Given the description of an element on the screen output the (x, y) to click on. 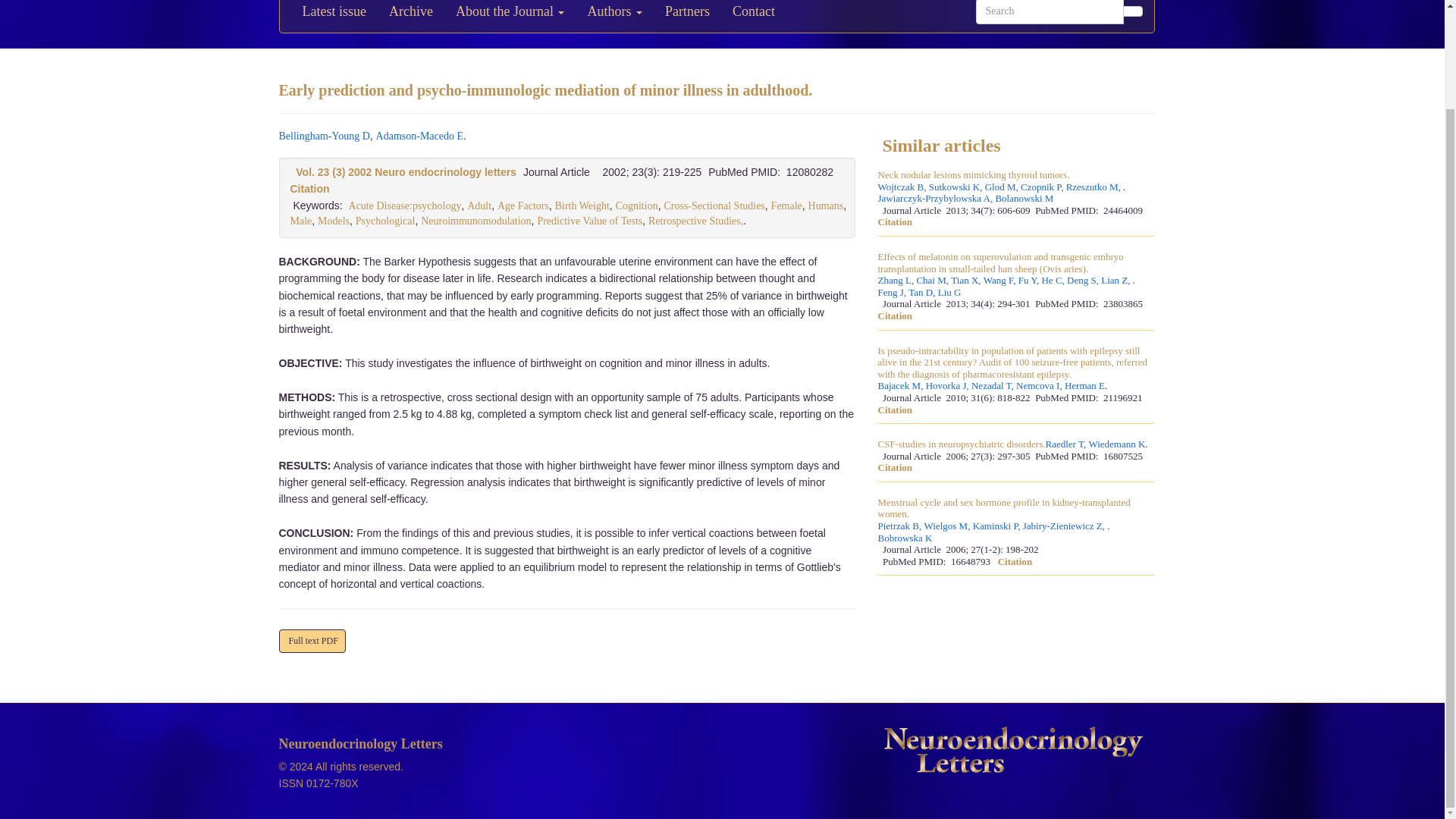
Adult (479, 205)
About the Journal (509, 16)
Archive (410, 16)
Retrospective Studies, (694, 220)
Acute Disease:psychology (405, 205)
Cross-Sectional Studies (713, 205)
Neuroimmunomodulation (475, 220)
Wojtczak B,  (902, 186)
Female (786, 205)
Age Factors (522, 205)
Predictive Value of Tests (589, 220)
Models (333, 220)
Latest issue (334, 16)
Bellingham-Young D (324, 135)
Contact (753, 16)
